Given the description of an element on the screen output the (x, y) to click on. 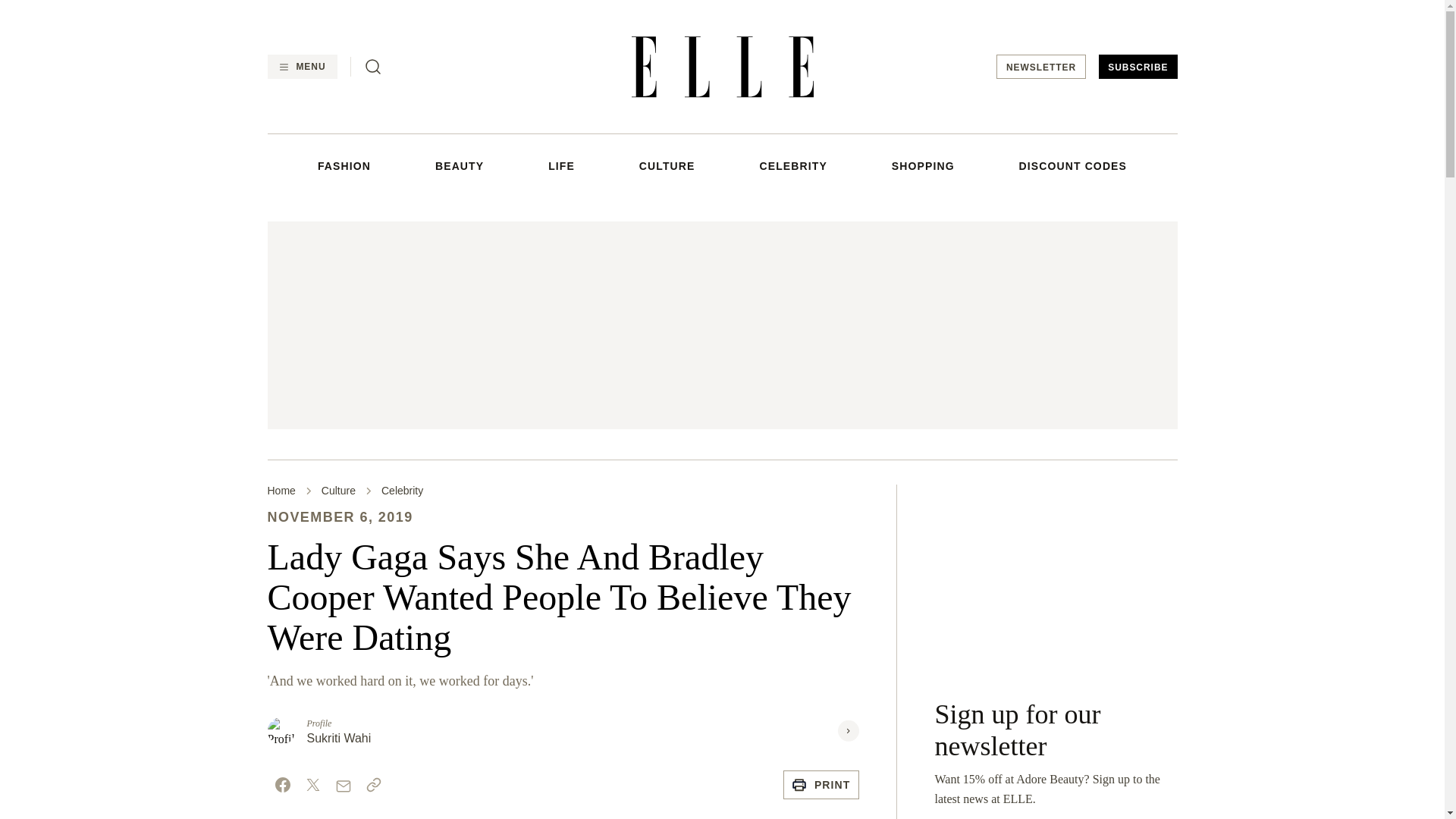
FASHION (344, 165)
CULTURE (667, 165)
SHOPPING (923, 165)
NEWSLETTER (1040, 66)
BEAUTY (459, 165)
LIFE (561, 165)
CELEBRITY (792, 165)
MENU (301, 66)
DISCOUNT CODES (1072, 165)
SUBSCRIBE (1137, 66)
